Given the description of an element on the screen output the (x, y) to click on. 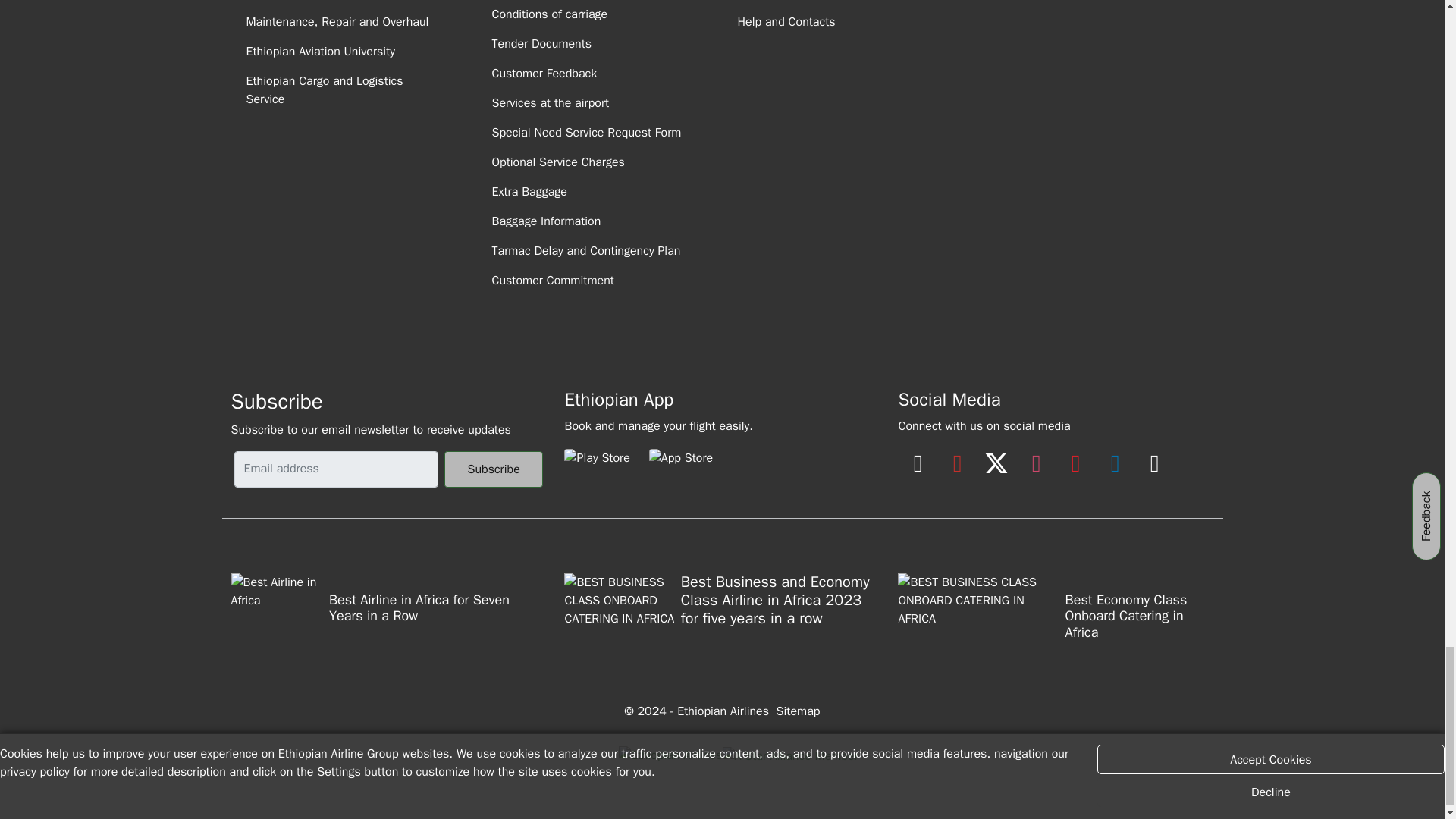
BEST BUSINESS CLASS ONBOARD CATERING IN AFRICA (621, 611)
BEST BUSINESS CLASS ONBOARD CATERING IN AFRICA (979, 611)
A Star Alliance Member (789, 755)
Twitter (996, 451)
Best Airline in Africa for Five Years in a Row (277, 609)
